Given the description of an element on the screen output the (x, y) to click on. 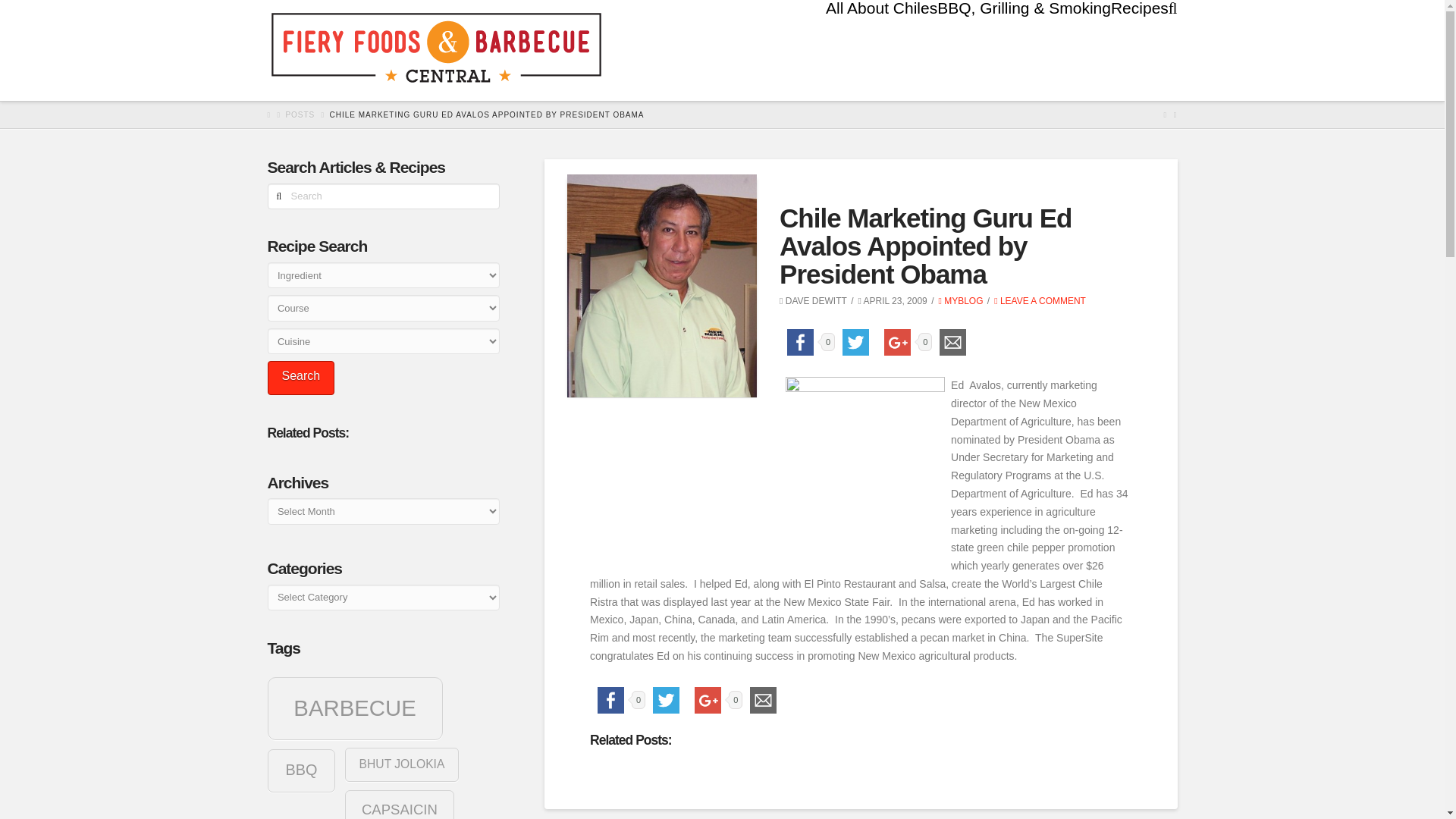
MYBLOG (959, 300)
LEAVE A COMMENT (1040, 300)
Email (763, 700)
Facebook (799, 342)
Twitter (666, 700)
Facebook (610, 700)
Search (300, 377)
All About Chiles (881, 33)
Twitter (855, 342)
Email (952, 342)
POSTS (299, 114)
